Given the description of an element on the screen output the (x, y) to click on. 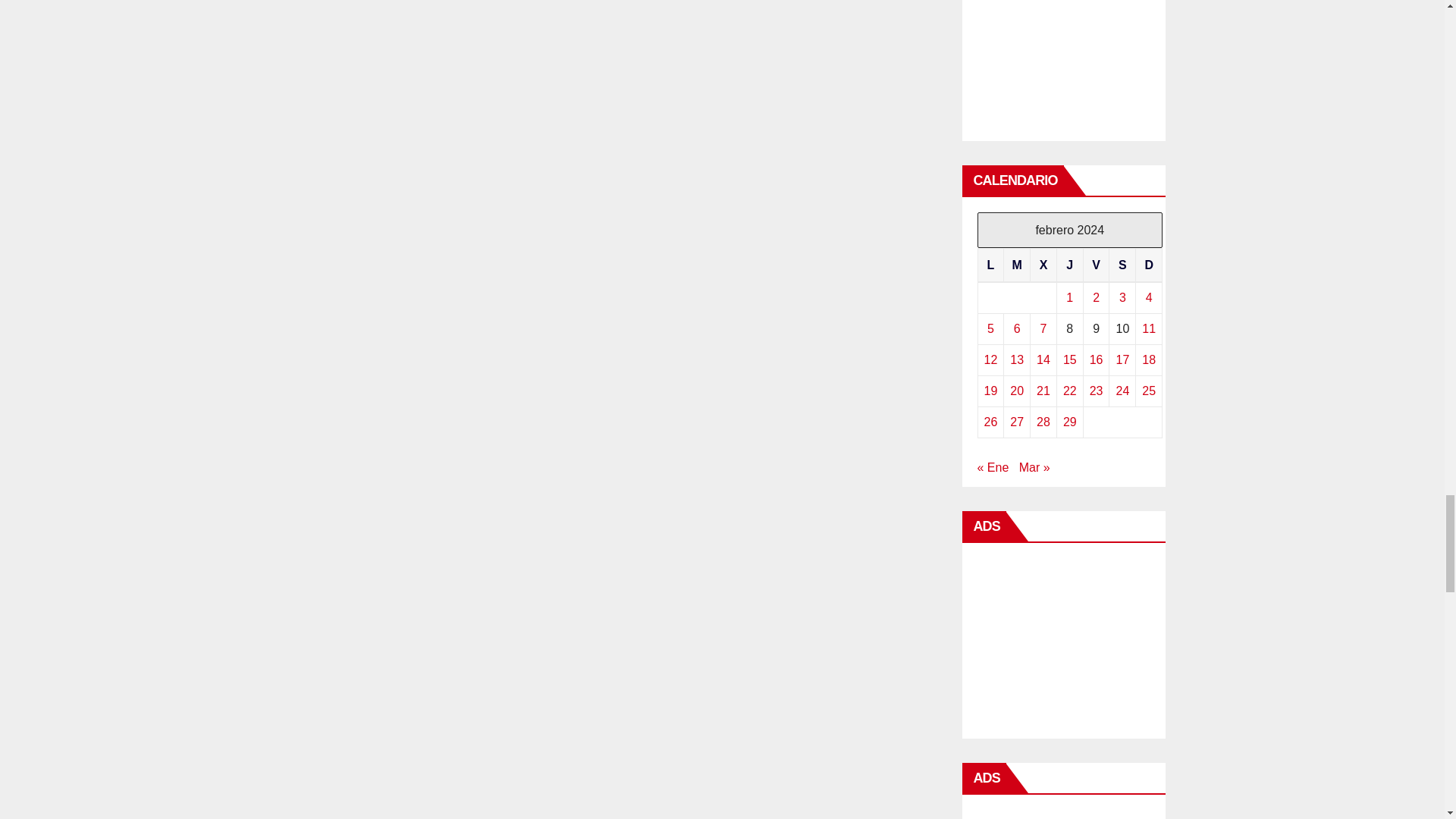
viernes (1096, 264)
martes (1017, 264)
lunes (990, 264)
jueves (1070, 264)
